Given the description of an element on the screen output the (x, y) to click on. 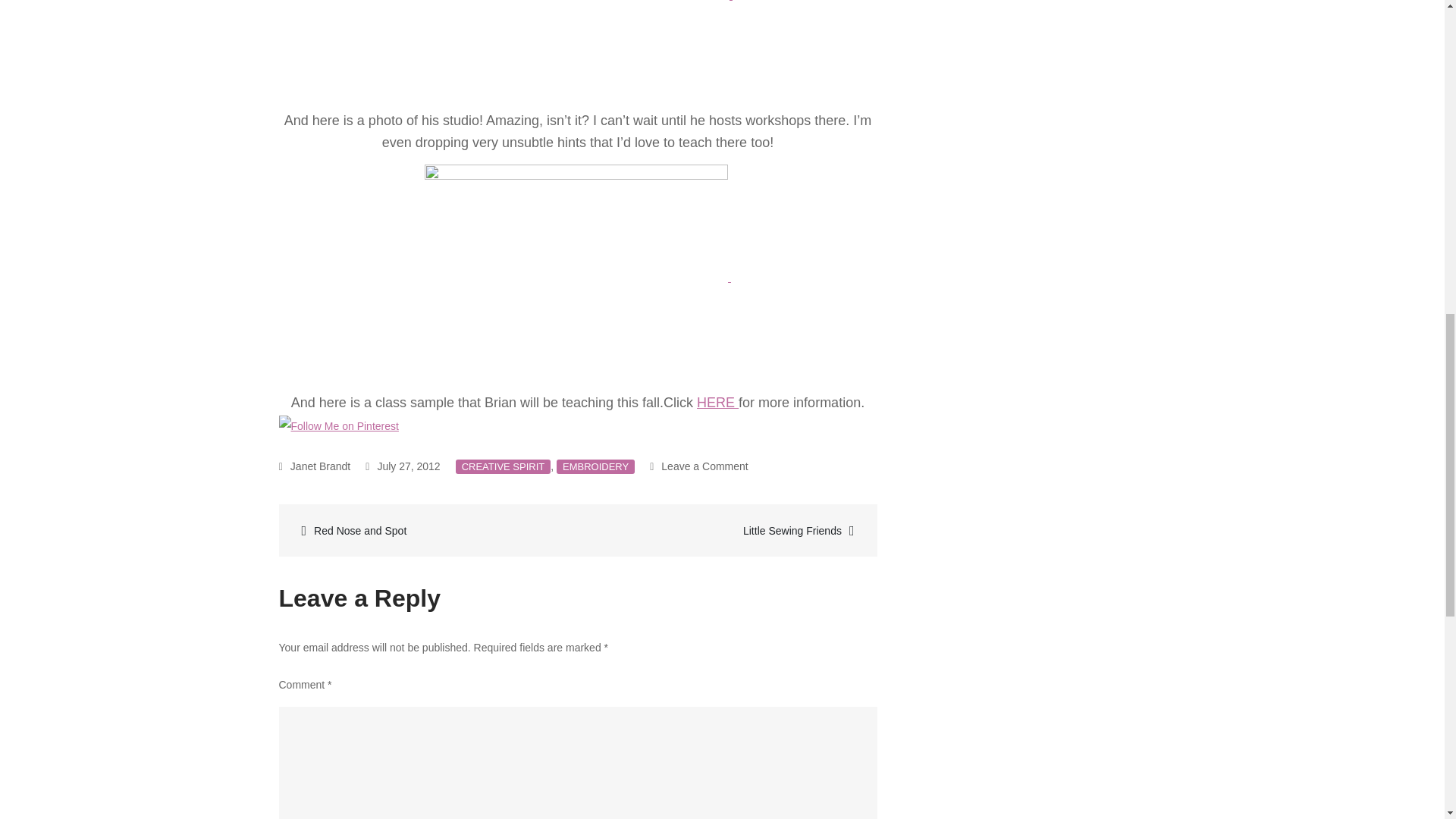
Janet Brandt (698, 466)
HERE (314, 466)
EMBROIDERY (717, 402)
Red Nose and Spot (595, 466)
CREATIVE SPIRIT (430, 530)
July 27, 2012 (503, 466)
Little Sewing Friends (402, 466)
